Given the description of an element on the screen output the (x, y) to click on. 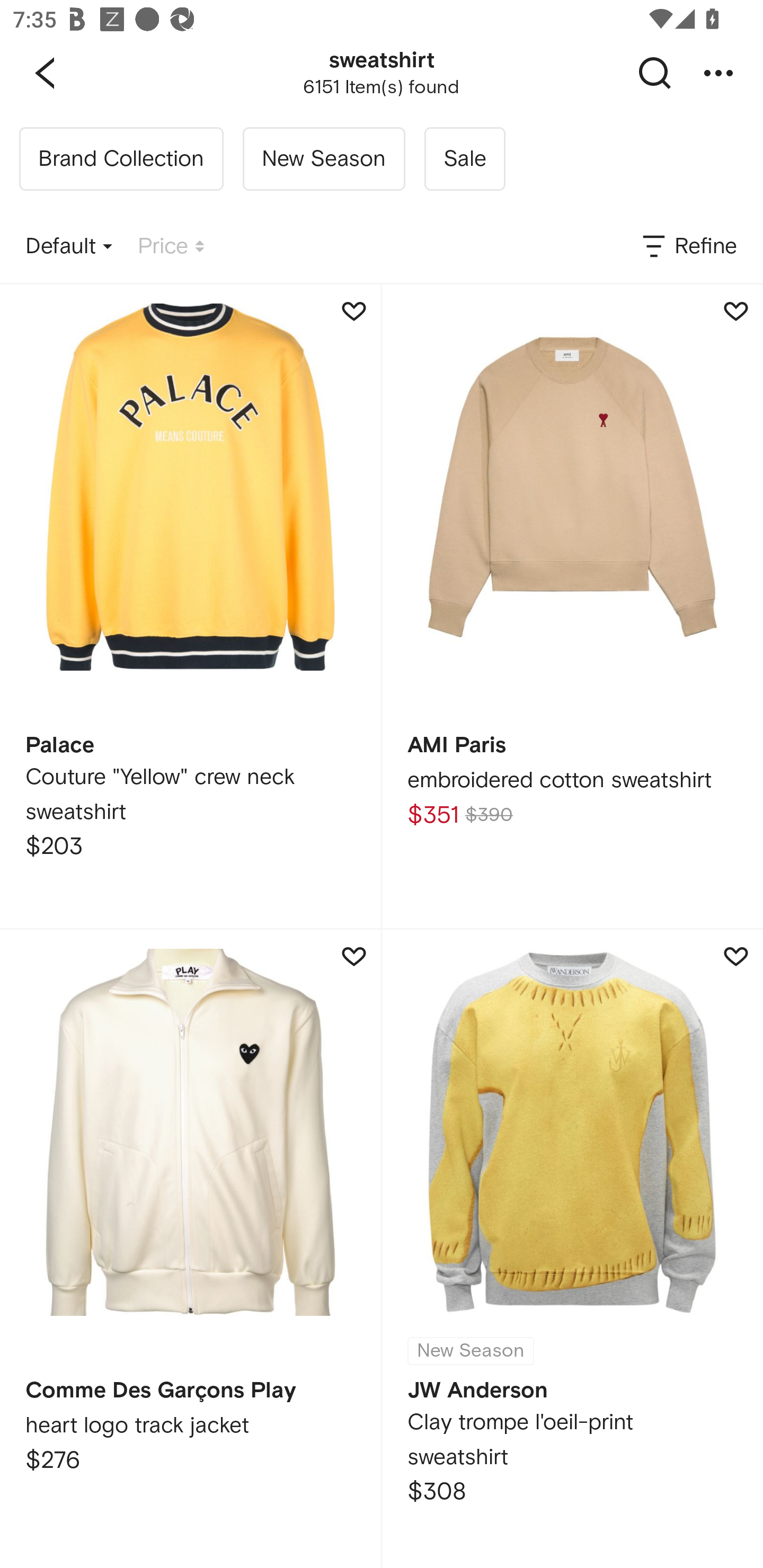
Brand Collection (121, 158)
New Season (323, 158)
Sale (464, 158)
Default (68, 246)
Price (171, 246)
Refine (688, 246)
Palace Couture "Yellow" crew neck sweatshirt $203 (190, 605)
AMI Paris embroidered cotton sweatshirt  $351 $390 (572, 605)
